Given the description of an element on the screen output the (x, y) to click on. 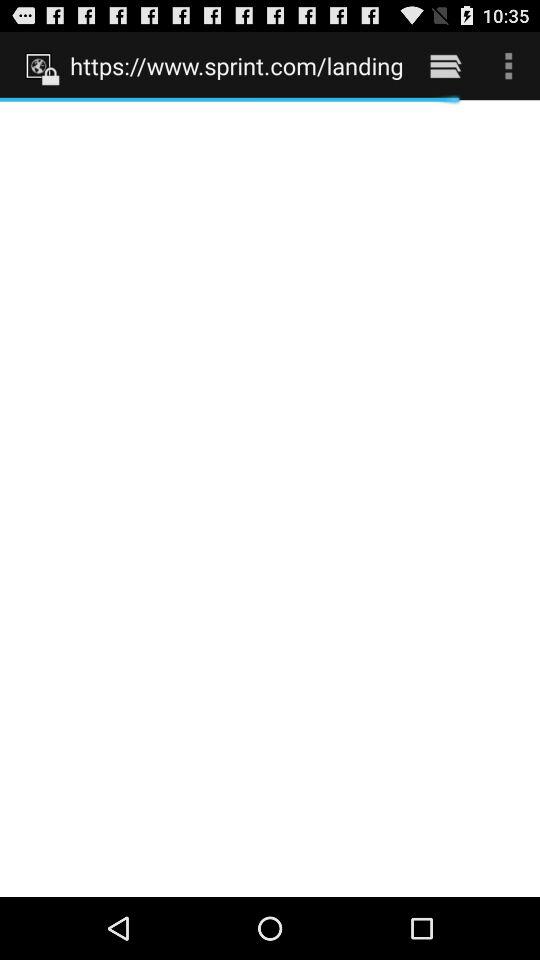
click icon below the https www sprint item (270, 497)
